Given the description of an element on the screen output the (x, y) to click on. 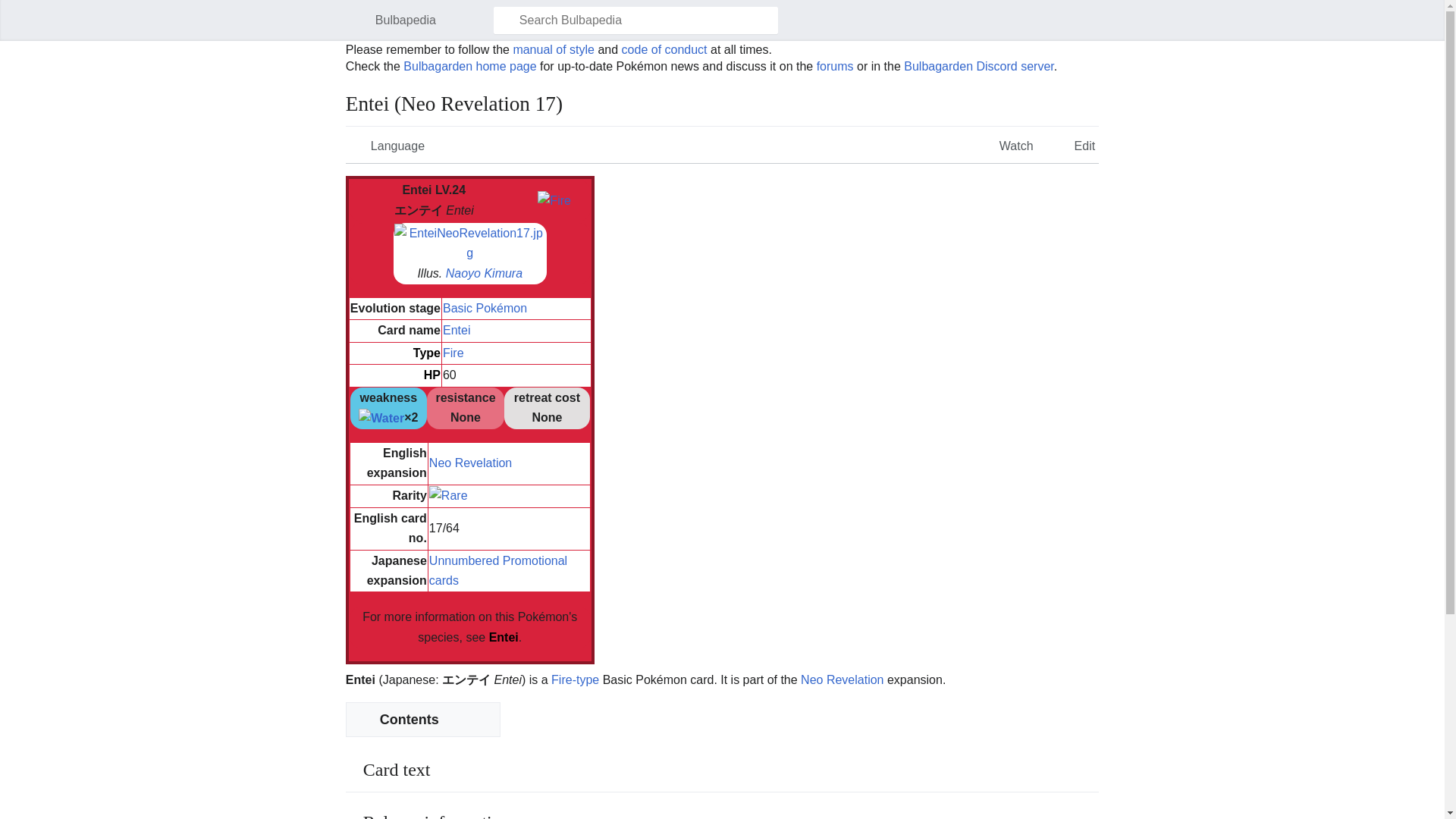
Bulbapedia:Code of conduct (664, 49)
code of conduct (664, 49)
Language (386, 144)
Fire (453, 352)
Naoyo Kimura (483, 273)
Entei (503, 636)
Open main menu (353, 20)
Entei (456, 329)
Neo Revelation (470, 462)
Fire (553, 199)
